Given the description of an element on the screen output the (x, y) to click on. 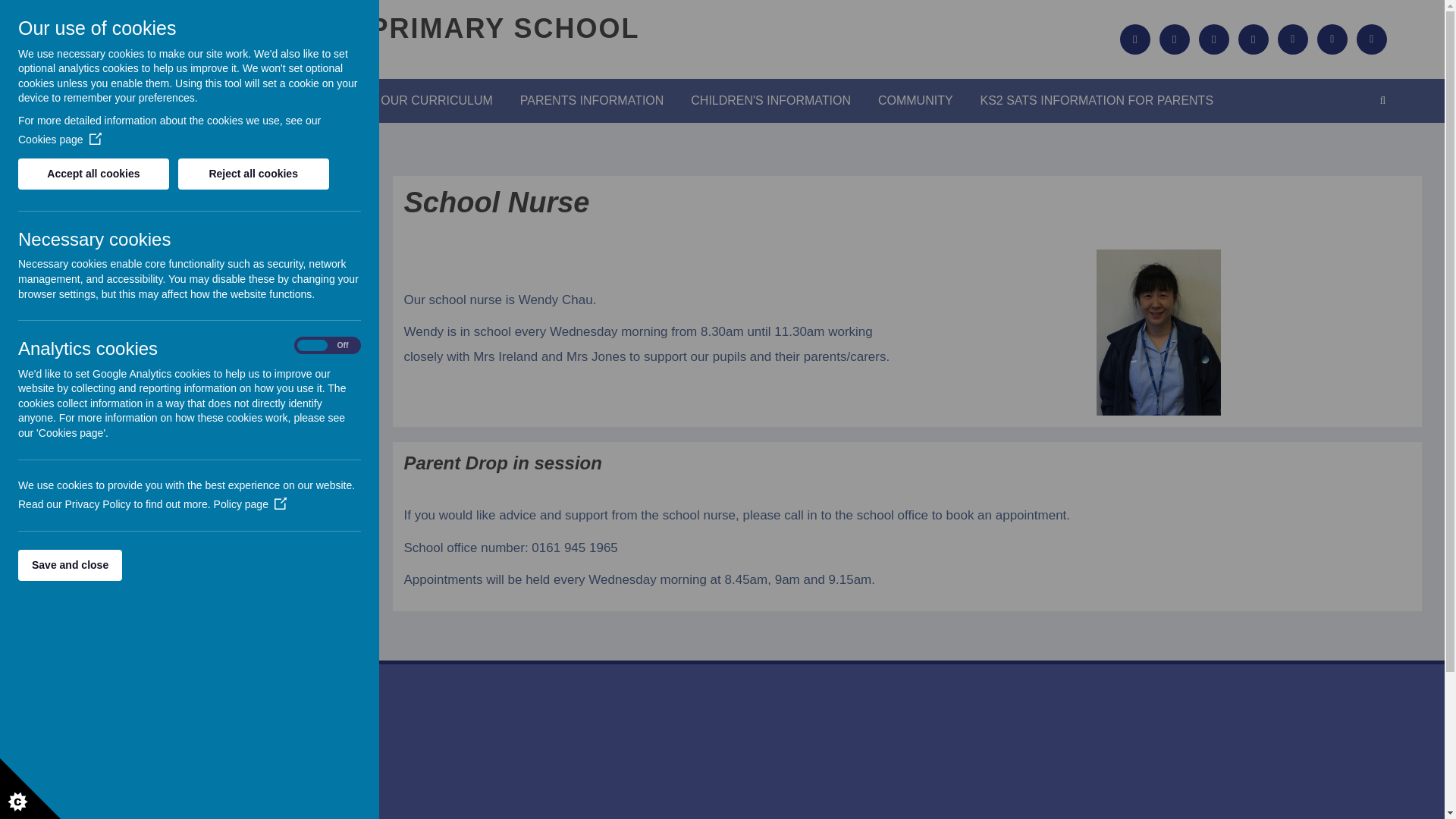
Facebook (1292, 39)
OUR CURRICULUM (436, 100)
YouTube (1371, 39)
on (327, 345)
OUR SCHOOL (312, 100)
Cookie Control Icon (30, 788)
Twitter (1332, 39)
HOME (226, 100)
